Given the description of an element on the screen output the (x, y) to click on. 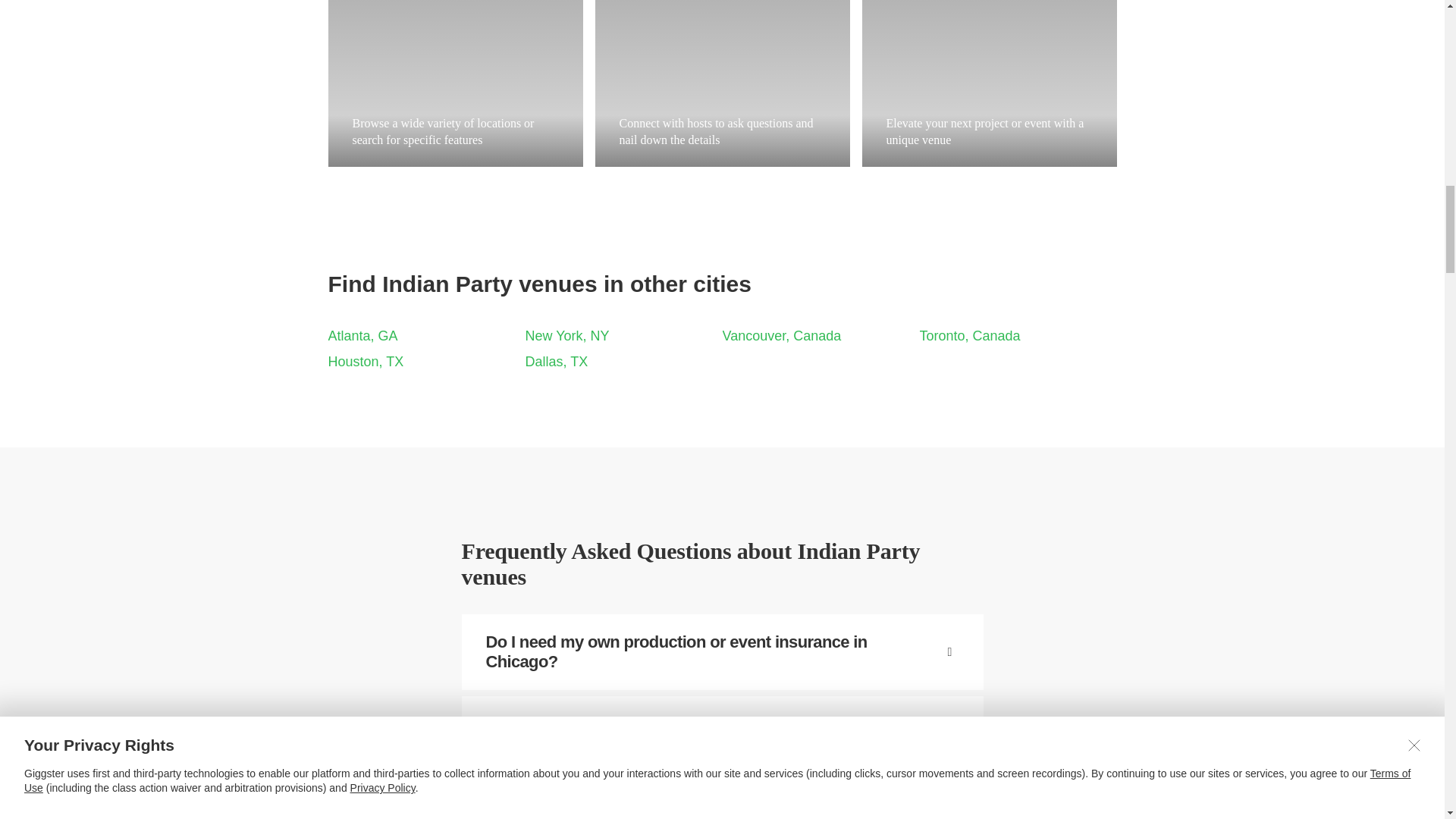
Elevate your next project or event with a unique venue (988, 83)
Connect with hosts and lockdown the details (721, 83)
